Given the description of an element on the screen output the (x, y) to click on. 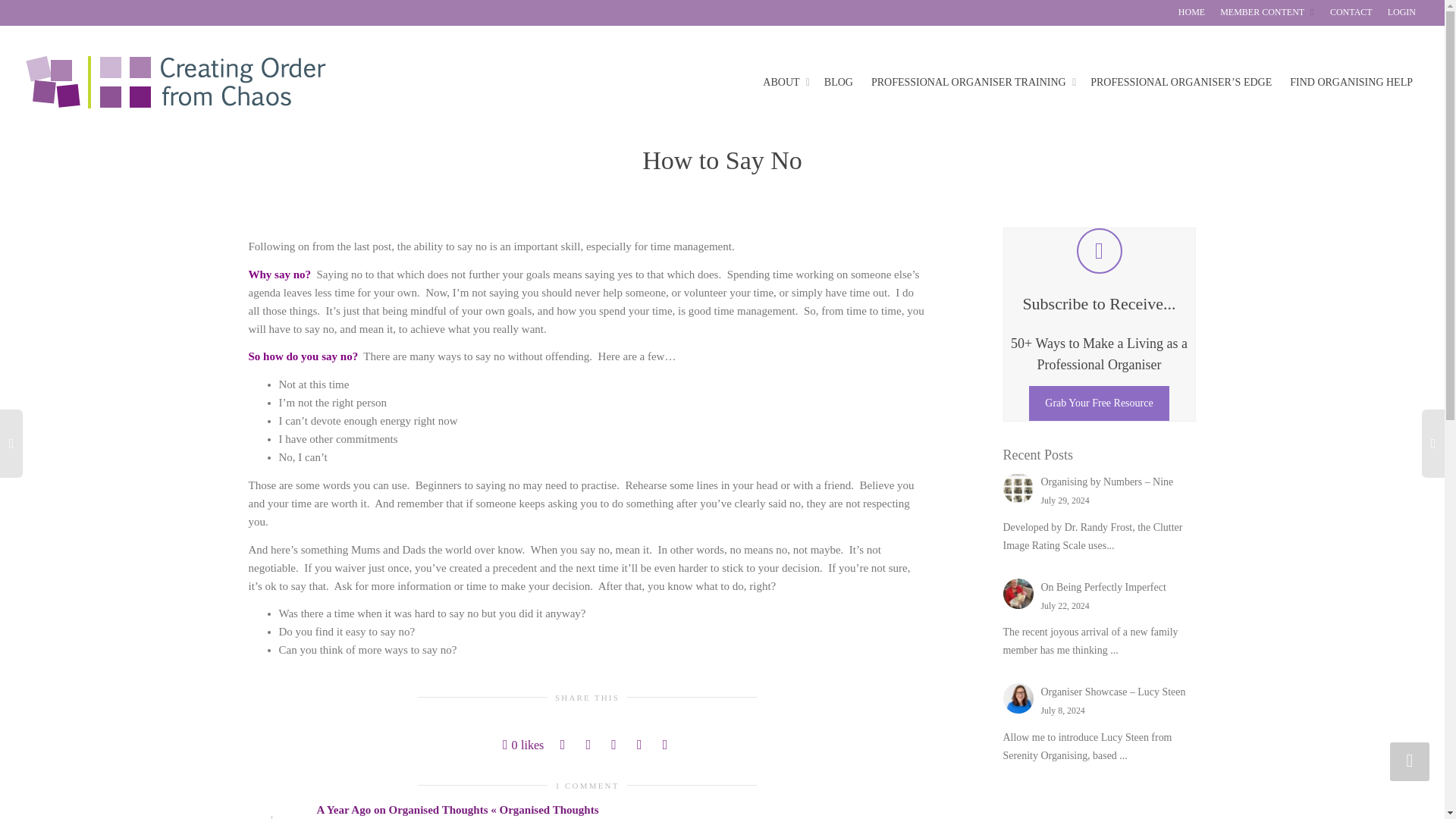
PROFESSIONAL ORGANISER TRAINING (970, 82)
HOME (1191, 12)
0 likes (522, 744)
Professional Organiser Training (970, 82)
FIND ORGANISING HELP (1351, 82)
MEMBER CONTENT (1268, 12)
Member Content (1268, 12)
Contact (1350, 12)
Home (1191, 12)
CONTACT (1350, 12)
LOGIN (1401, 12)
Login (1401, 12)
Creating Order from Chaos (175, 81)
Grab Your Free Resource (1099, 402)
